Given the description of an element on the screen output the (x, y) to click on. 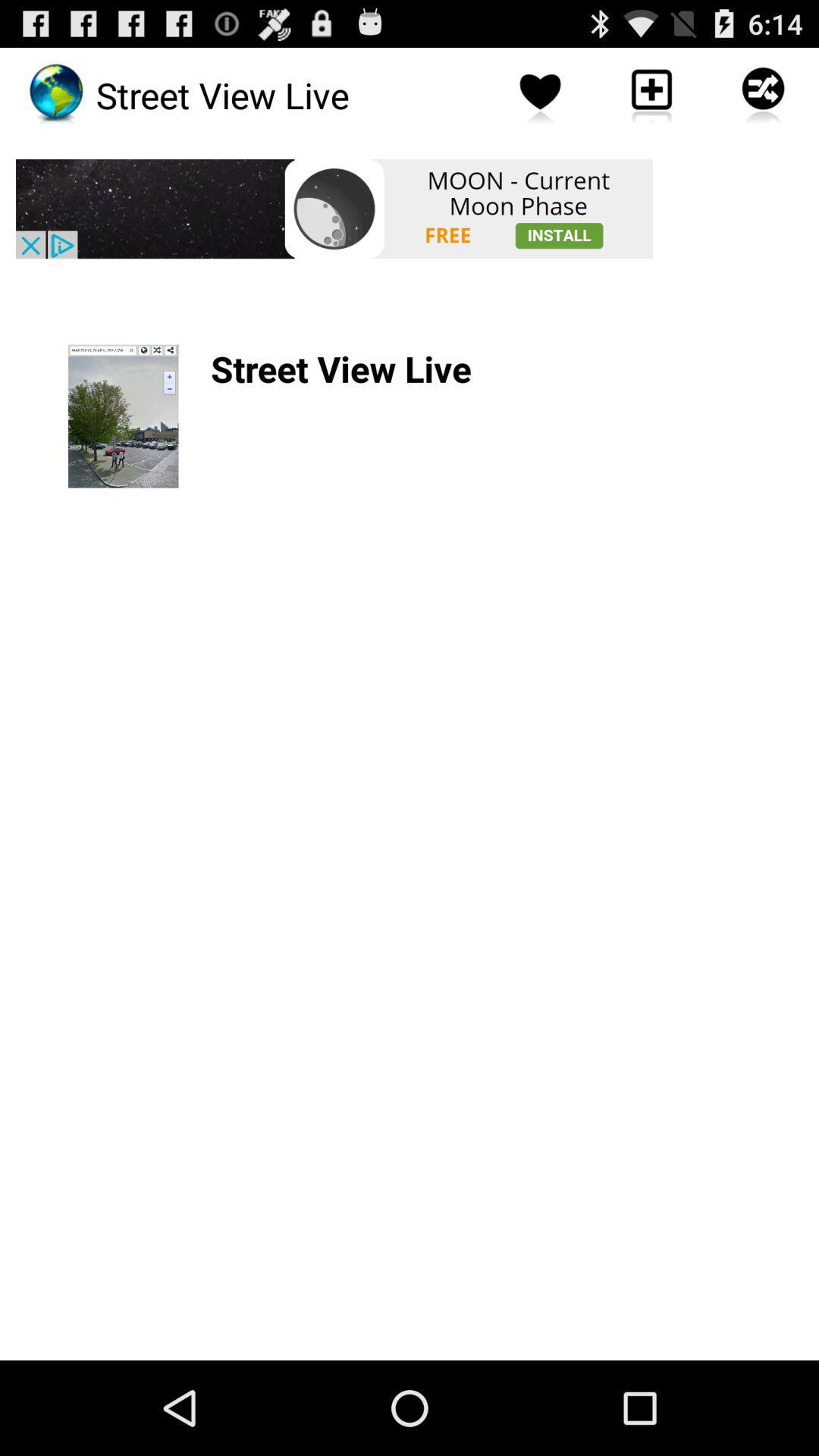
launch advertisement (333, 208)
